Given the description of an element on the screen output the (x, y) to click on. 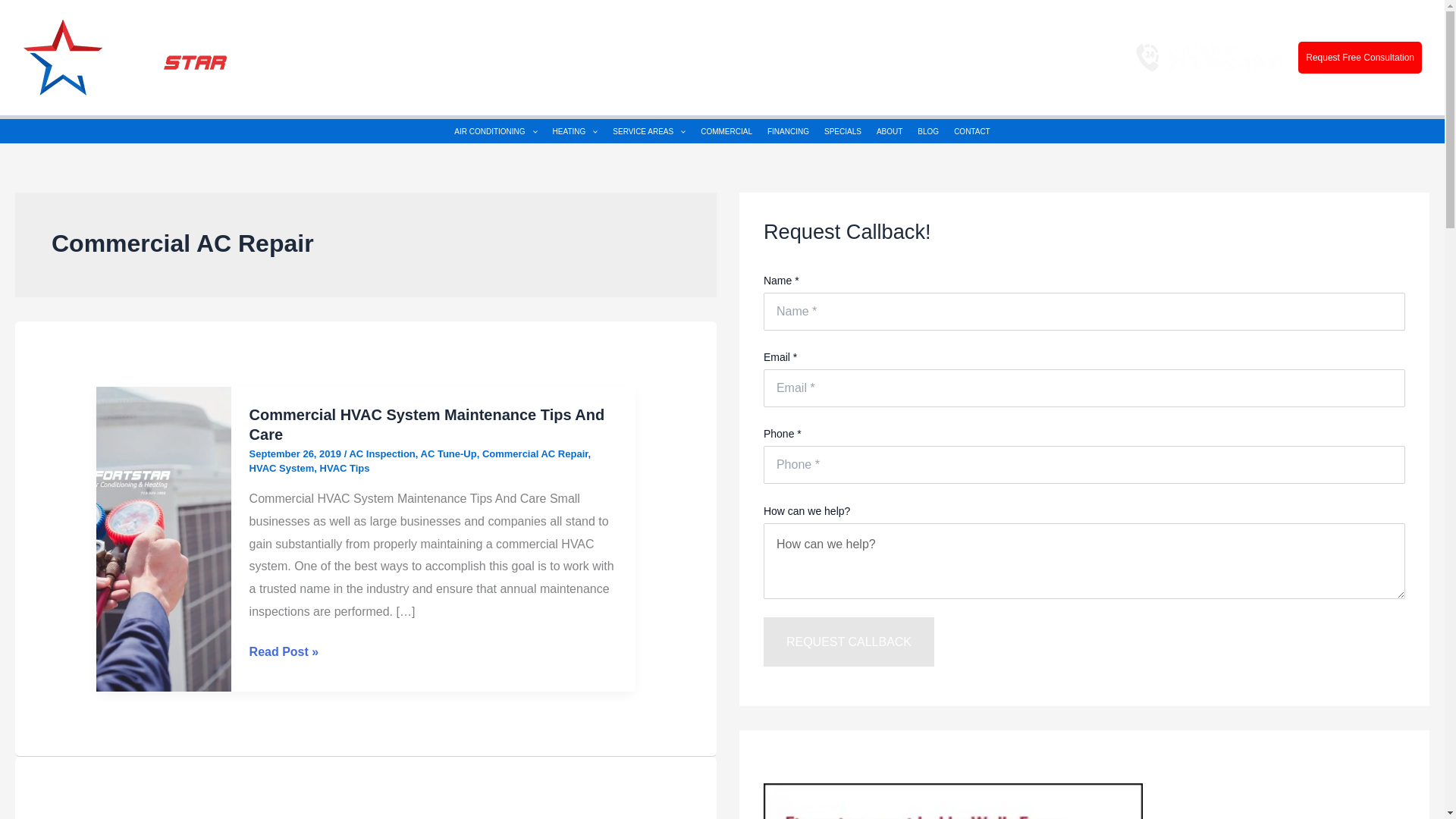
REQUEST CALLBACK (848, 642)
SERVICE AREAS (649, 131)
CONTACT (971, 131)
AIR CONDITIONING (495, 131)
COMMERCIAL (726, 131)
FINANCING (788, 131)
ABOUT (889, 131)
Request Free Consultation (1360, 57)
BLOG (928, 131)
SPECIALS (842, 131)
HEATING (574, 131)
